Given the description of an element on the screen output the (x, y) to click on. 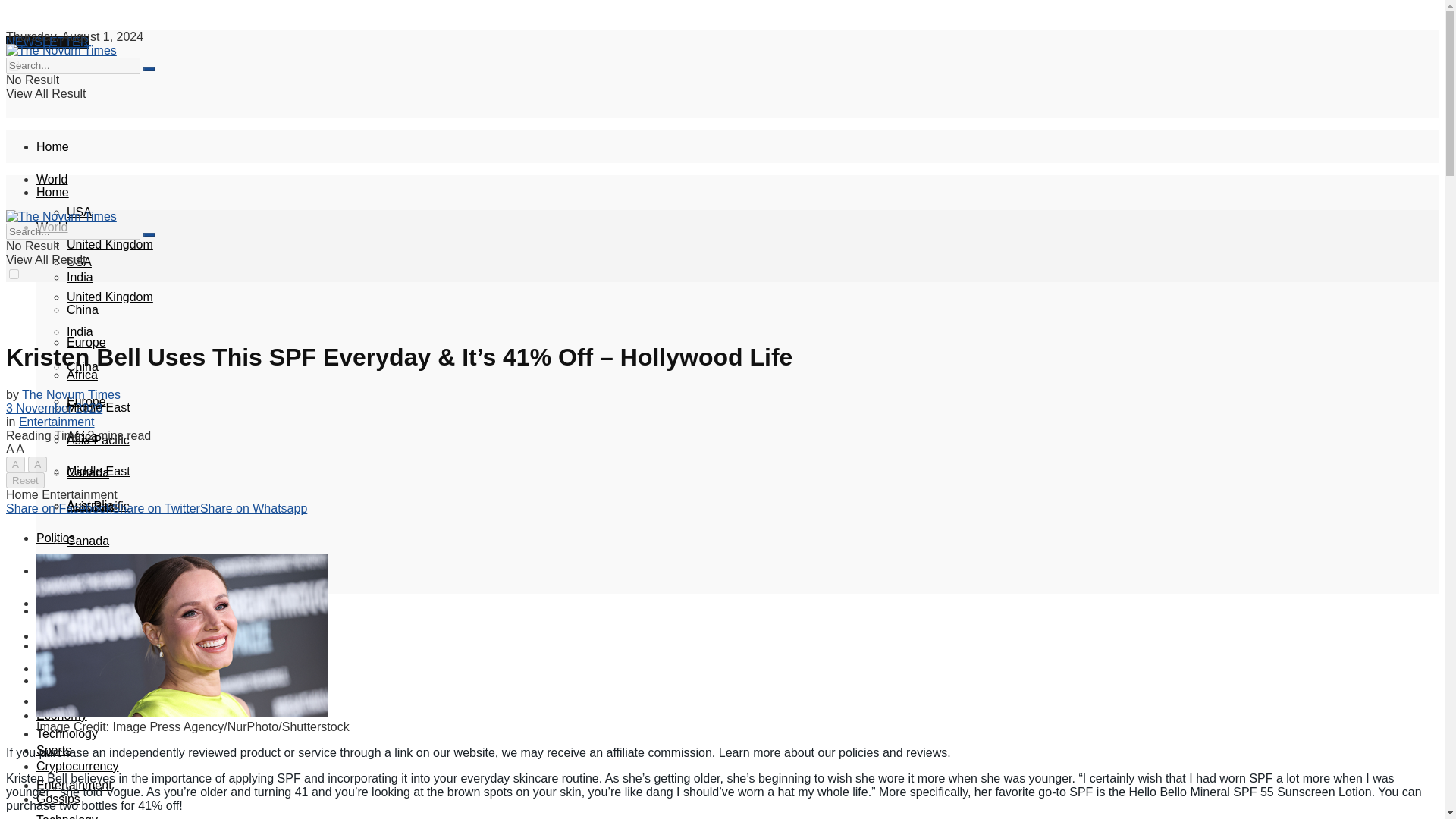
Gossips (58, 798)
United Kingdom (109, 296)
USA (78, 261)
World (52, 178)
on (13, 65)
Politics (55, 537)
United Kingdom (109, 244)
Home (52, 146)
Cryptocurrency (76, 766)
China (82, 366)
USA (78, 211)
Technology (66, 733)
Europe (86, 341)
Africa (81, 374)
Middle East (98, 407)
